Given the description of an element on the screen output the (x, y) to click on. 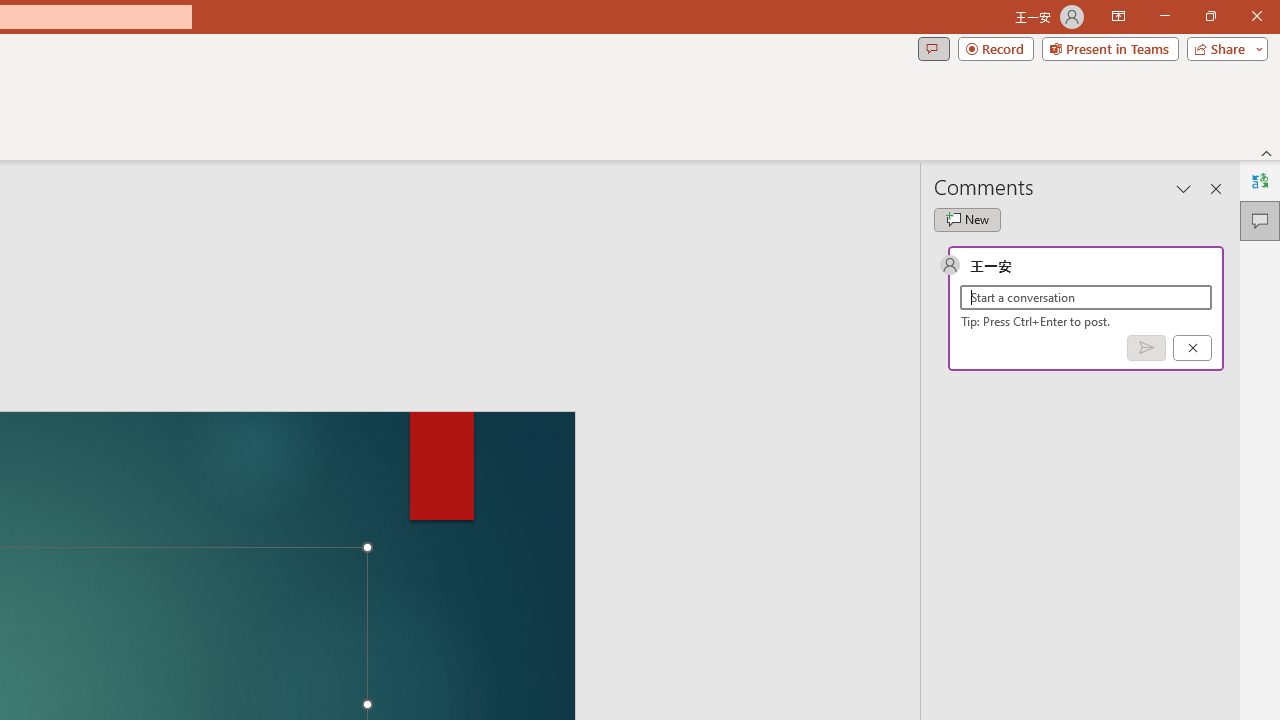
Post comment (Ctrl + Enter) (1146, 347)
New comment (967, 219)
Start a conversation (1085, 297)
